Given the description of an element on the screen output the (x, y) to click on. 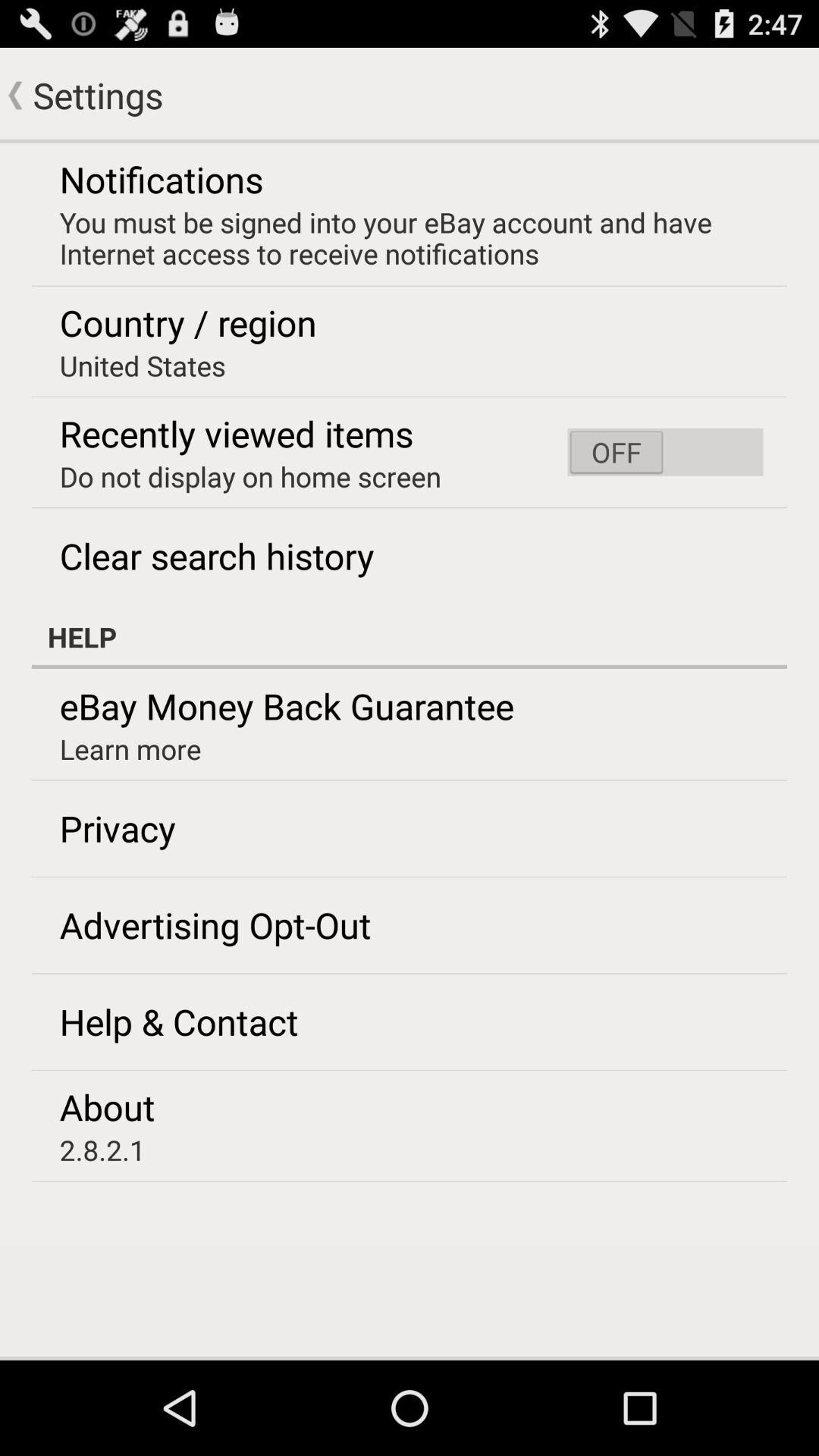
scroll until the help & contact icon (178, 1021)
